Given the description of an element on the screen output the (x, y) to click on. 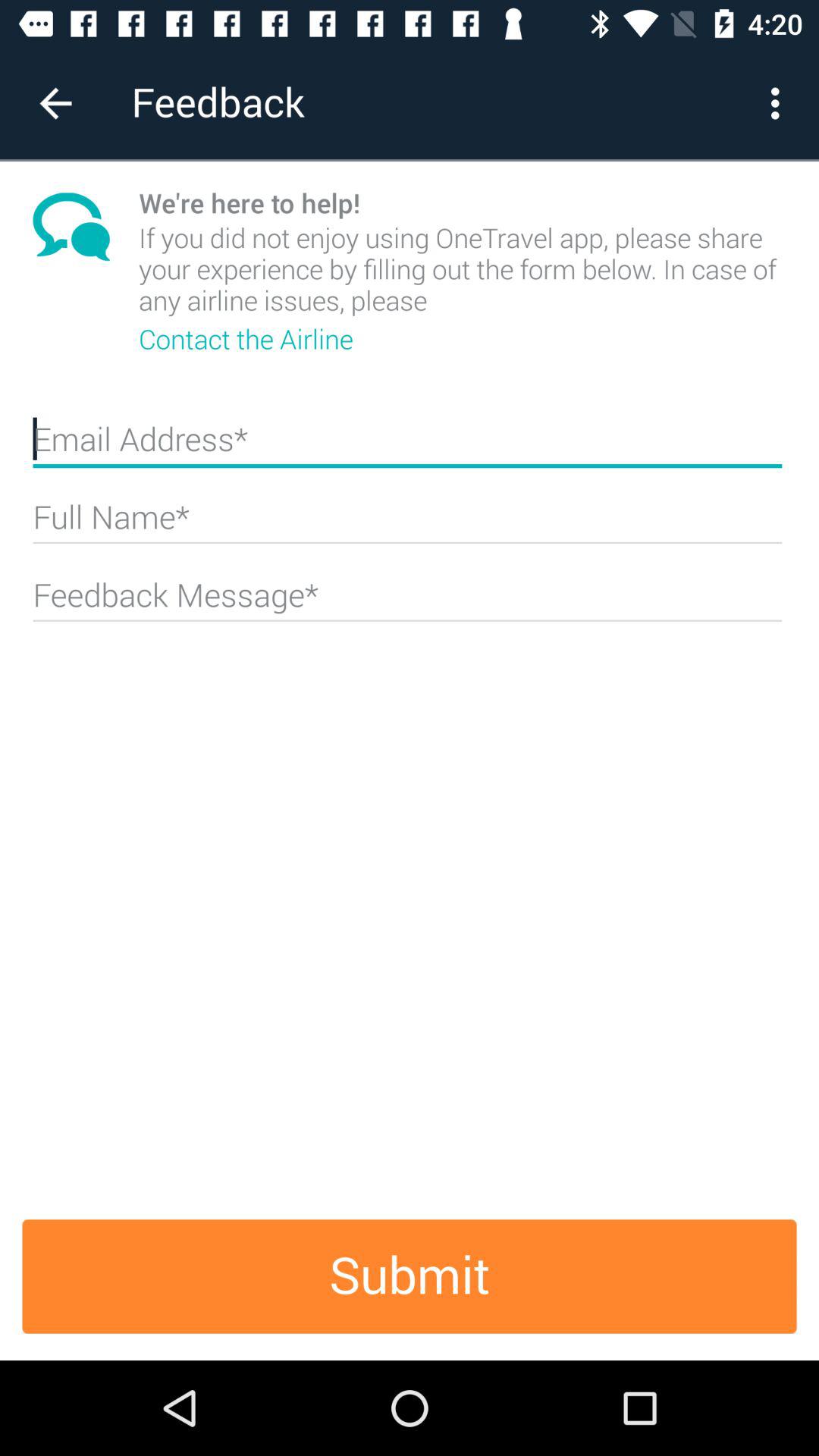
enter full name (407, 523)
